Given the description of an element on the screen output the (x, y) to click on. 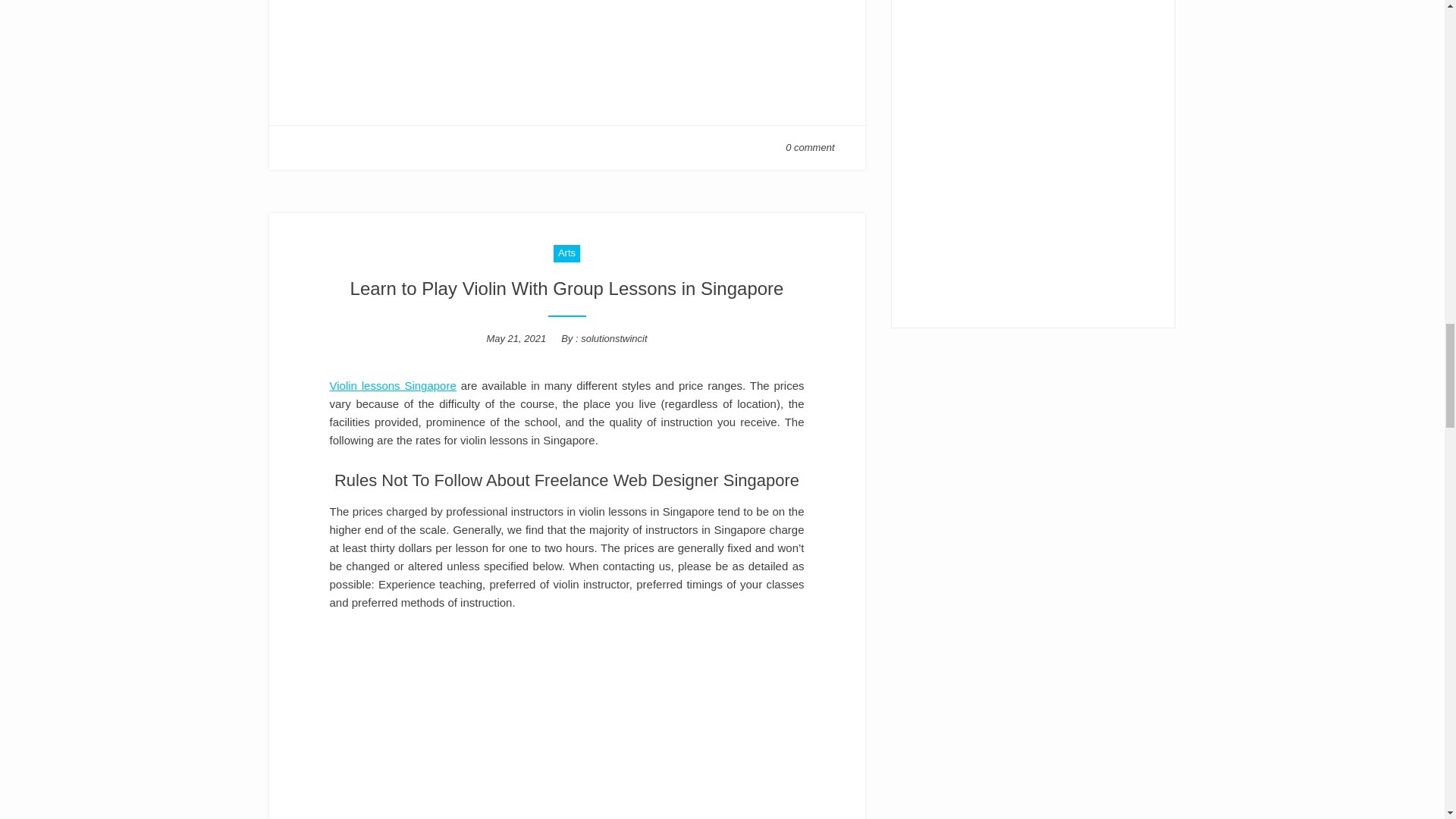
0 comment (810, 147)
solutionstwincit (613, 337)
May 21, 2021 (516, 337)
Arts (566, 253)
Learn to Play Violin With Group Lessons in Singapore (567, 288)
